Given the description of an element on the screen output the (x, y) to click on. 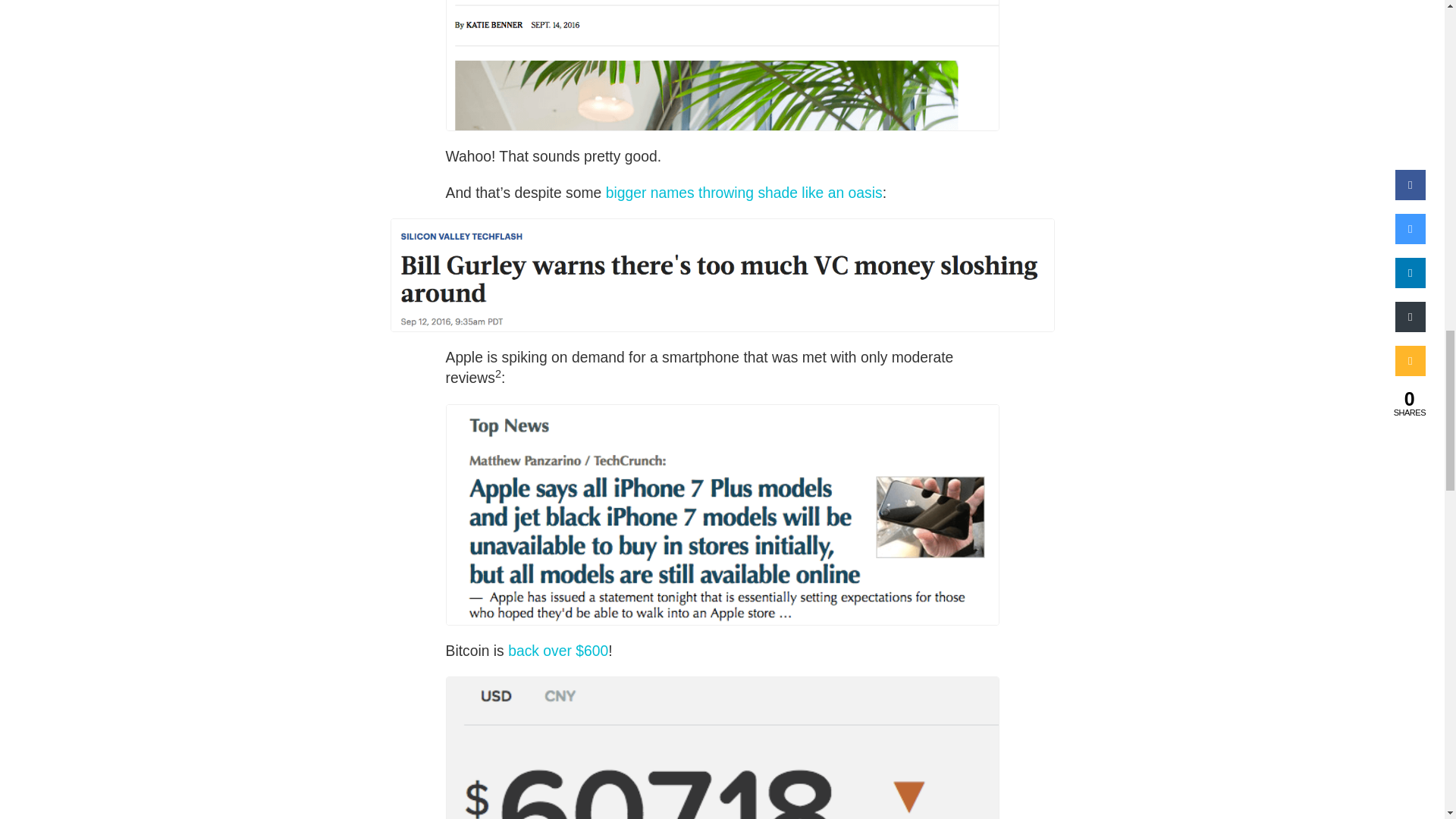
bigger names throwing shade like an oasis (743, 192)
